Given the description of an element on the screen output the (x, y) to click on. 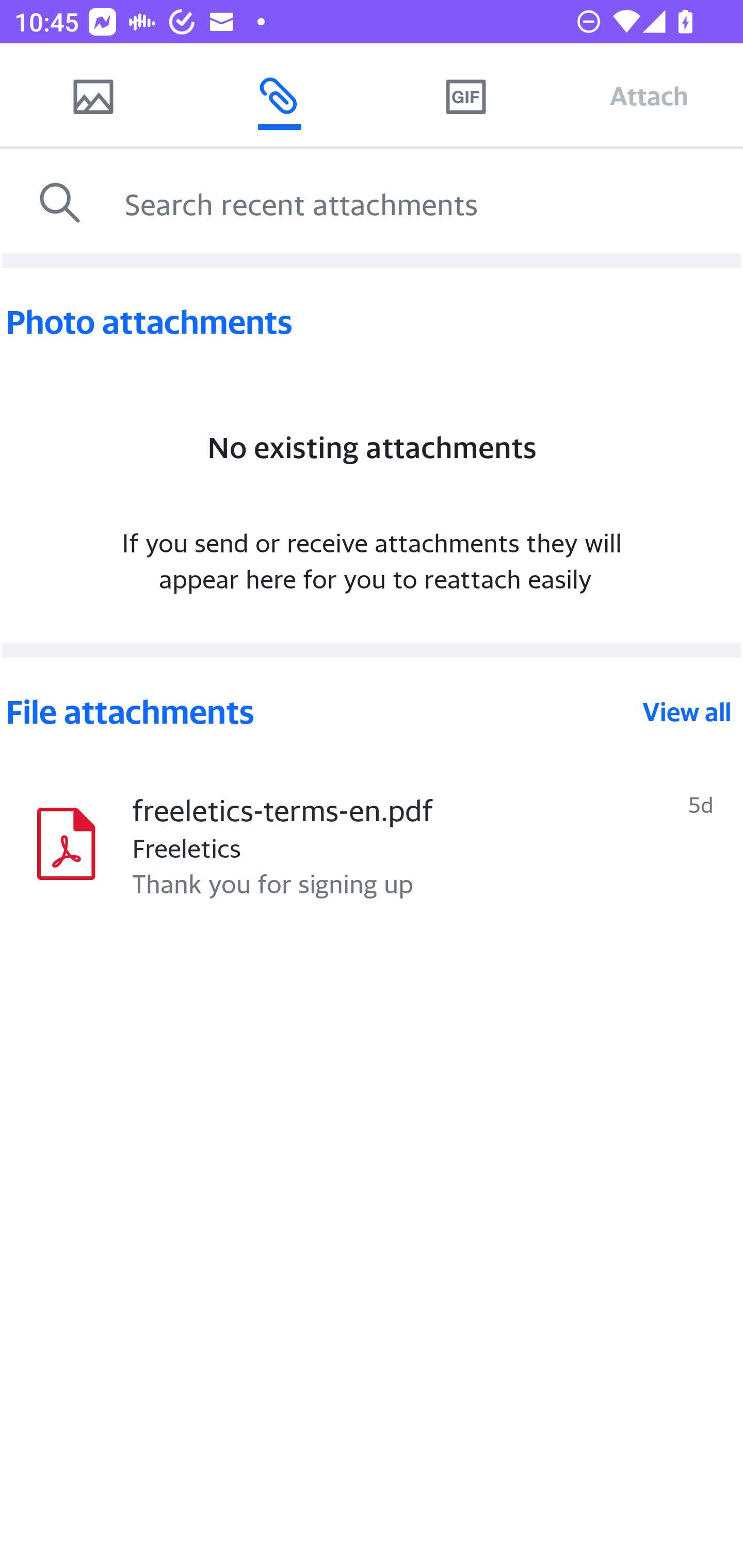
Camera photos (93, 95)
Recent attachments from mail (279, 95)
GIFs (465, 95)
Attach (649, 95)
Search recent attachments (428, 203)
Photo attachments (371, 322)
File attachments (321, 711)
View all (686, 711)
